Given the description of an element on the screen output the (x, y) to click on. 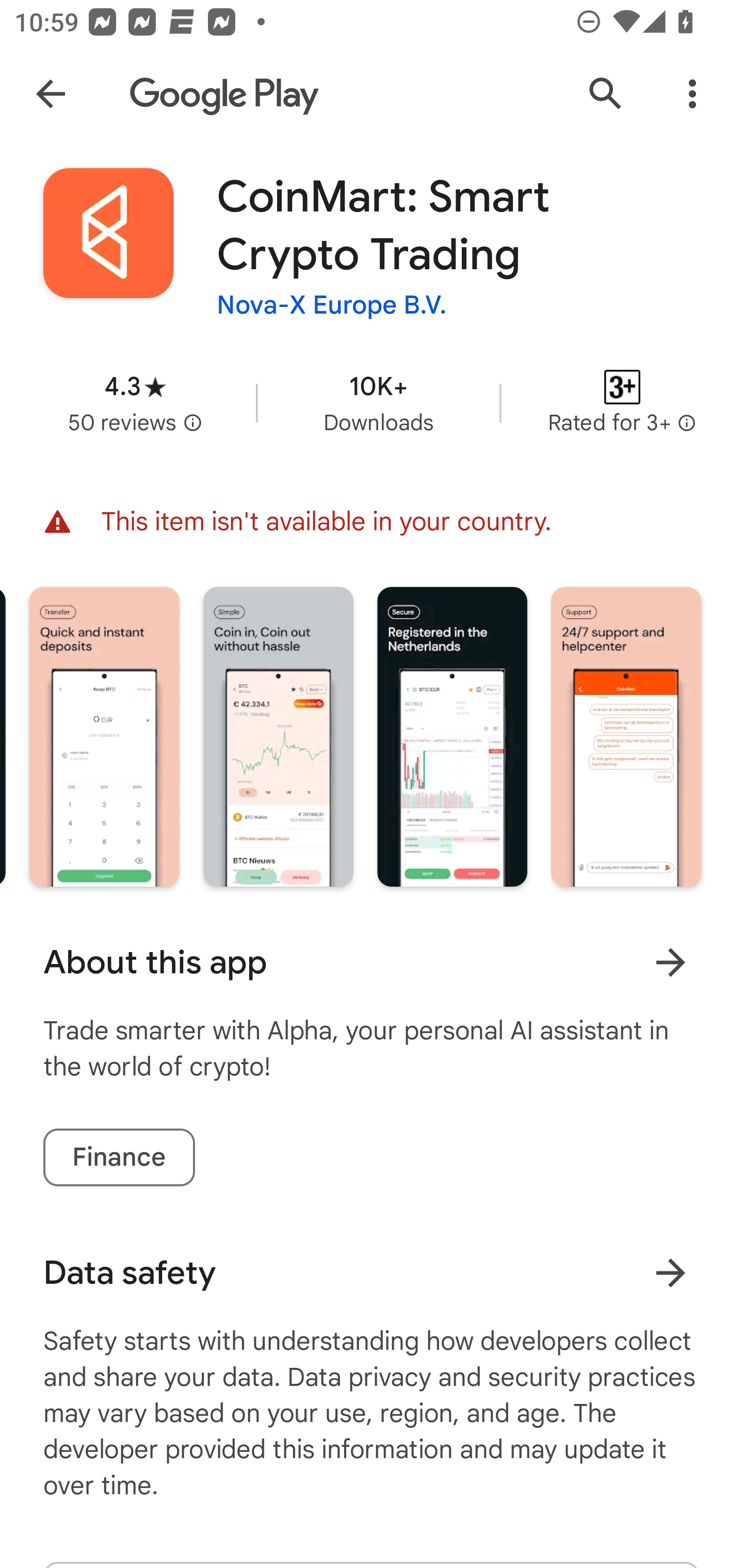
Navigate up (50, 93)
Search Google Play (605, 93)
More Options (692, 93)
Nova-X Europe B.V. (331, 304)
Average rating 4.3 stars in 50 reviews (135, 402)
Content rating Rated for 3+ (622, 402)
Screenshot "4" of "7" (104, 735)
Screenshot "5" of "7" (278, 735)
Screenshot "6" of "7" (452, 735)
Screenshot "7" of "7" (626, 735)
About this app Learn more About this app (371, 962)
Learn more About this app (670, 961)
Finance tag (118, 1157)
Data safety Learn more about data safety (371, 1273)
Learn more about data safety (670, 1272)
